Given the description of an element on the screen output the (x, y) to click on. 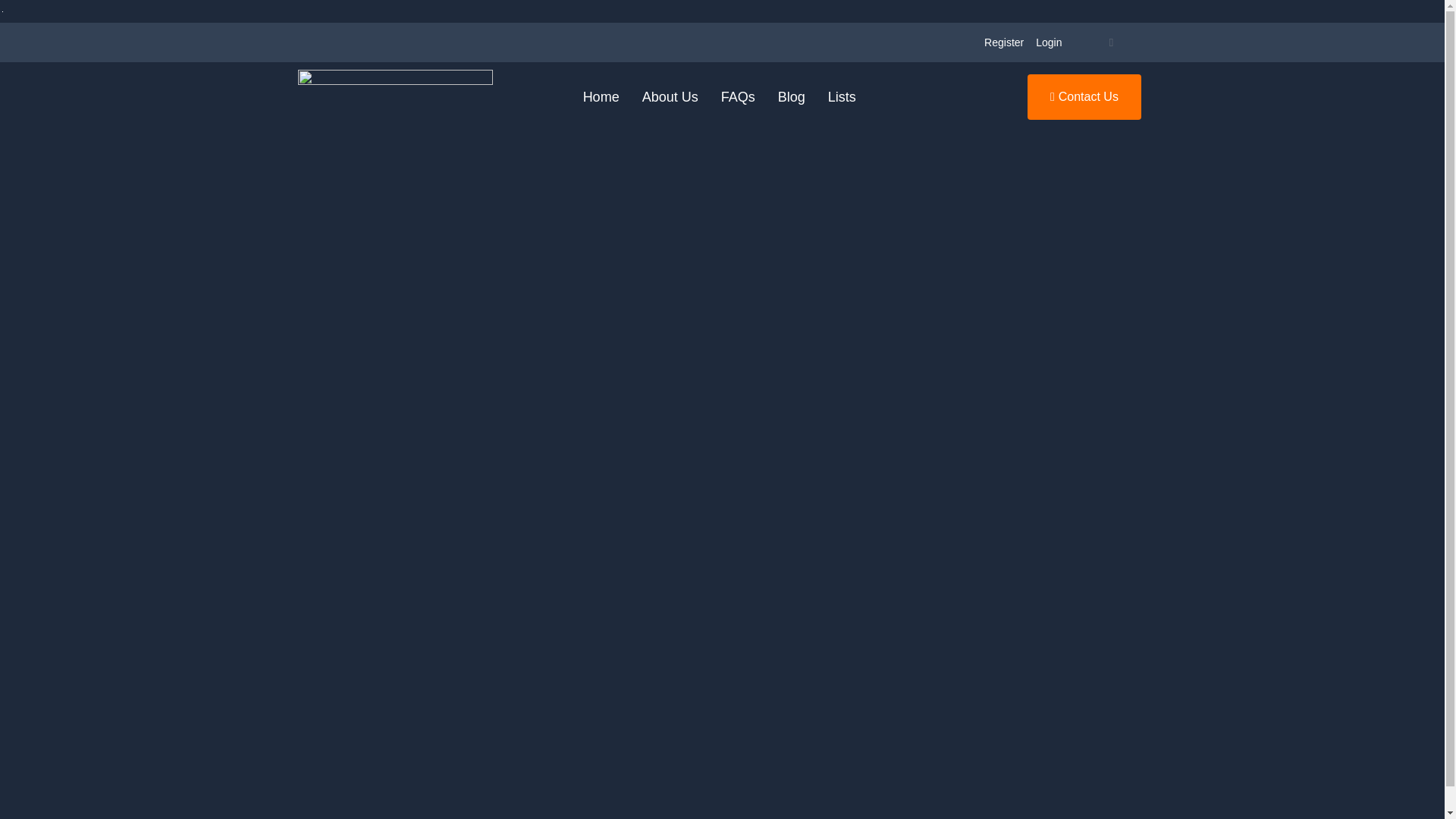
Home (601, 97)
Register (1003, 42)
Blog (791, 97)
Lists (841, 97)
Cart (1110, 42)
Contact Us (1084, 96)
Login (1048, 42)
FAQs (738, 97)
About Us (670, 97)
